Given the description of an element on the screen output the (x, y) to click on. 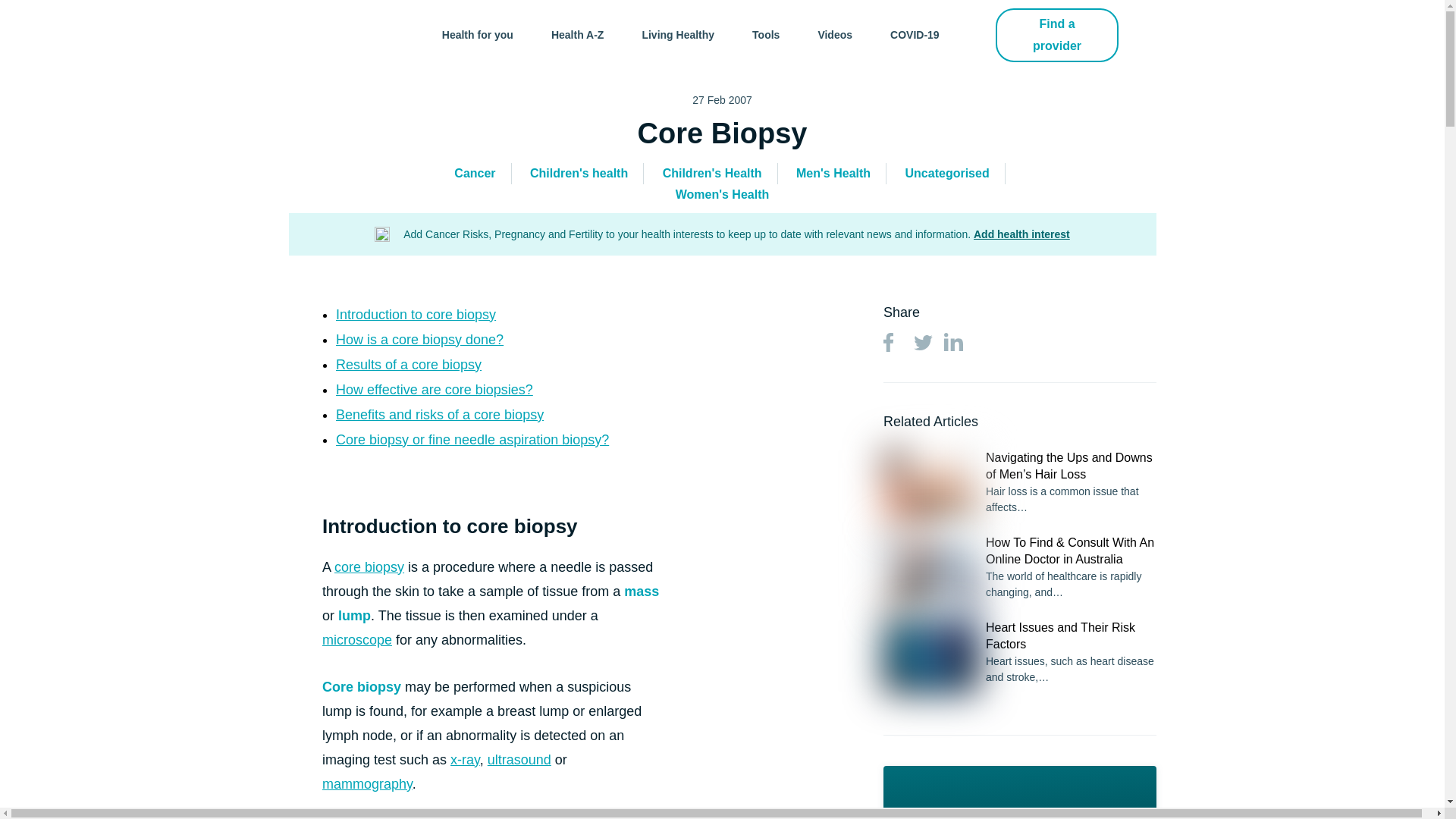
Living Healthy (678, 35)
Healthengine home page (341, 34)
Health for you (477, 35)
Healthengine Patient Blog (341, 34)
